Given the description of an element on the screen output the (x, y) to click on. 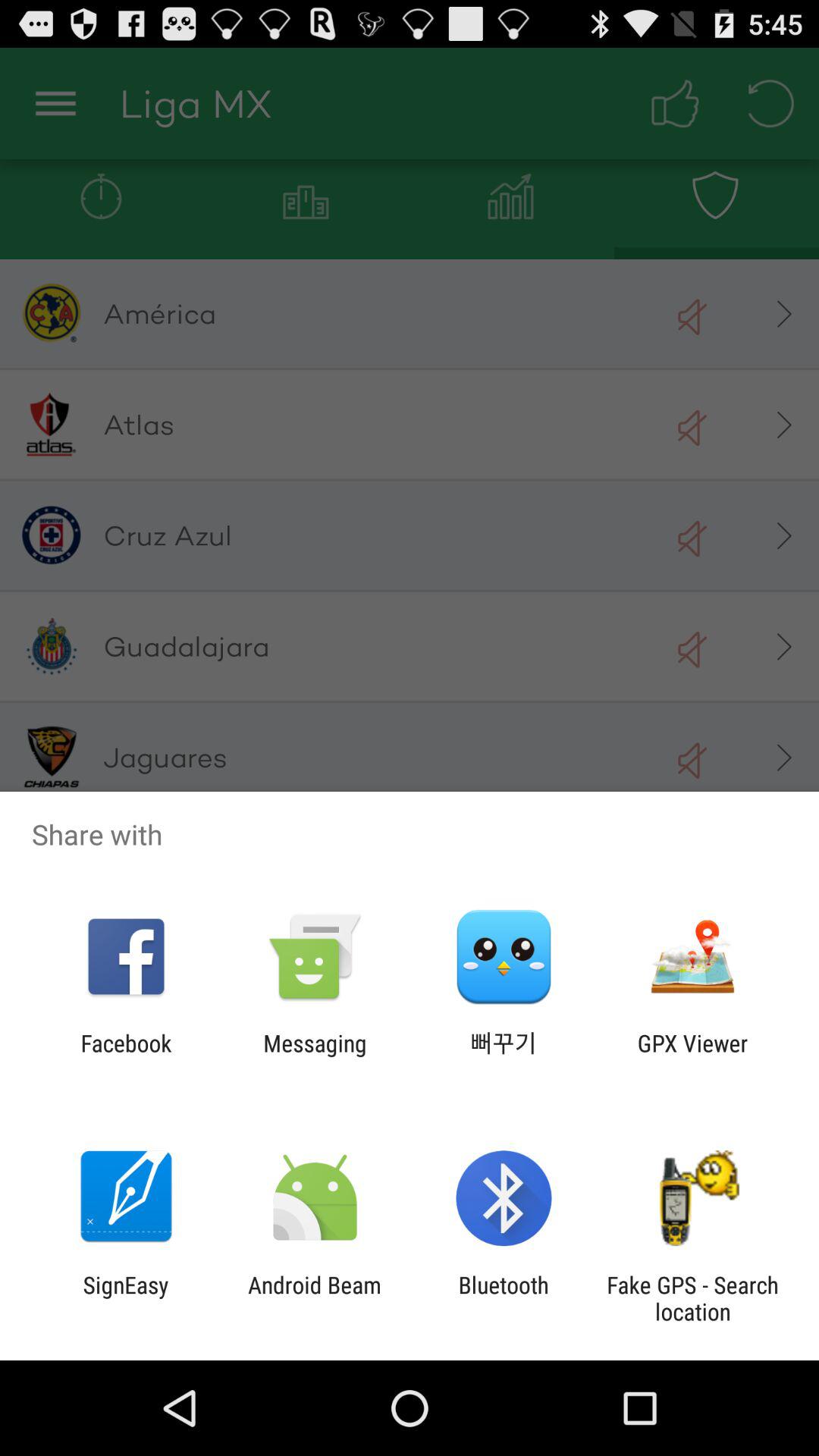
open icon to the right of facebook icon (314, 1056)
